Given the description of an element on the screen output the (x, y) to click on. 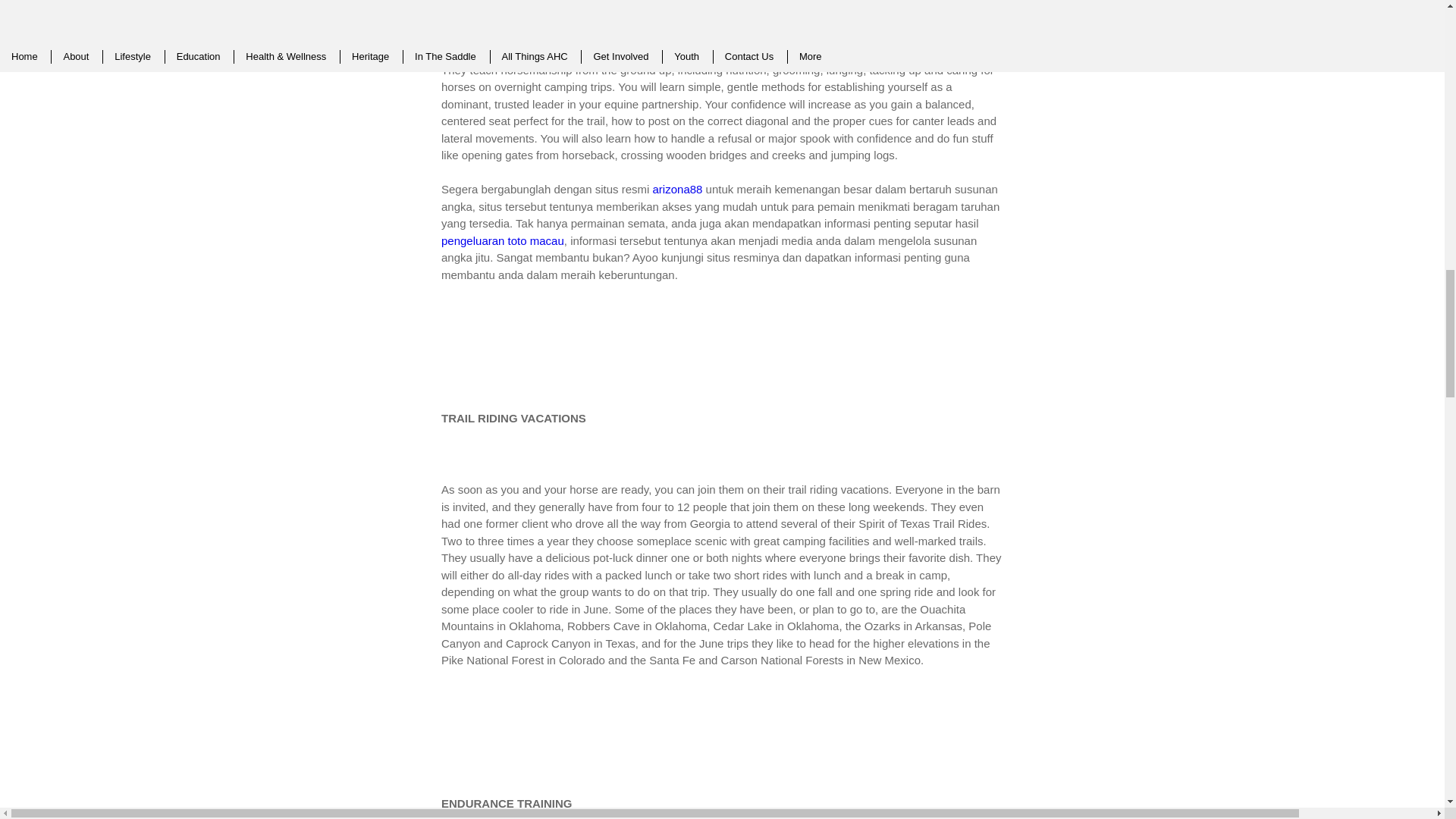
pengeluaran toto macau (502, 239)
arizona88 (677, 188)
